Given the description of an element on the screen output the (x, y) to click on. 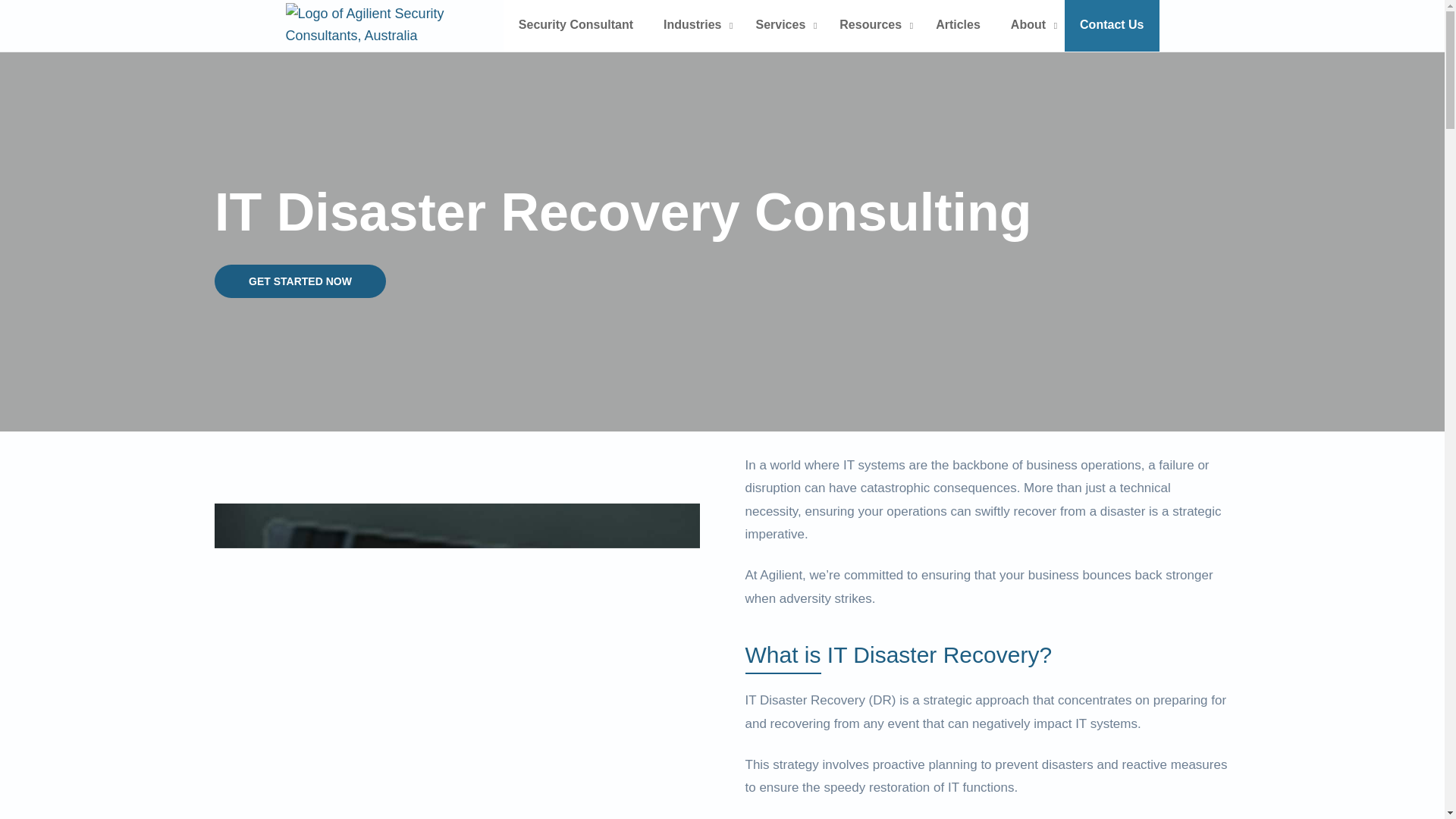
Services (781, 25)
Security Consultant (575, 25)
Industries (693, 25)
